Given the description of an element on the screen output the (x, y) to click on. 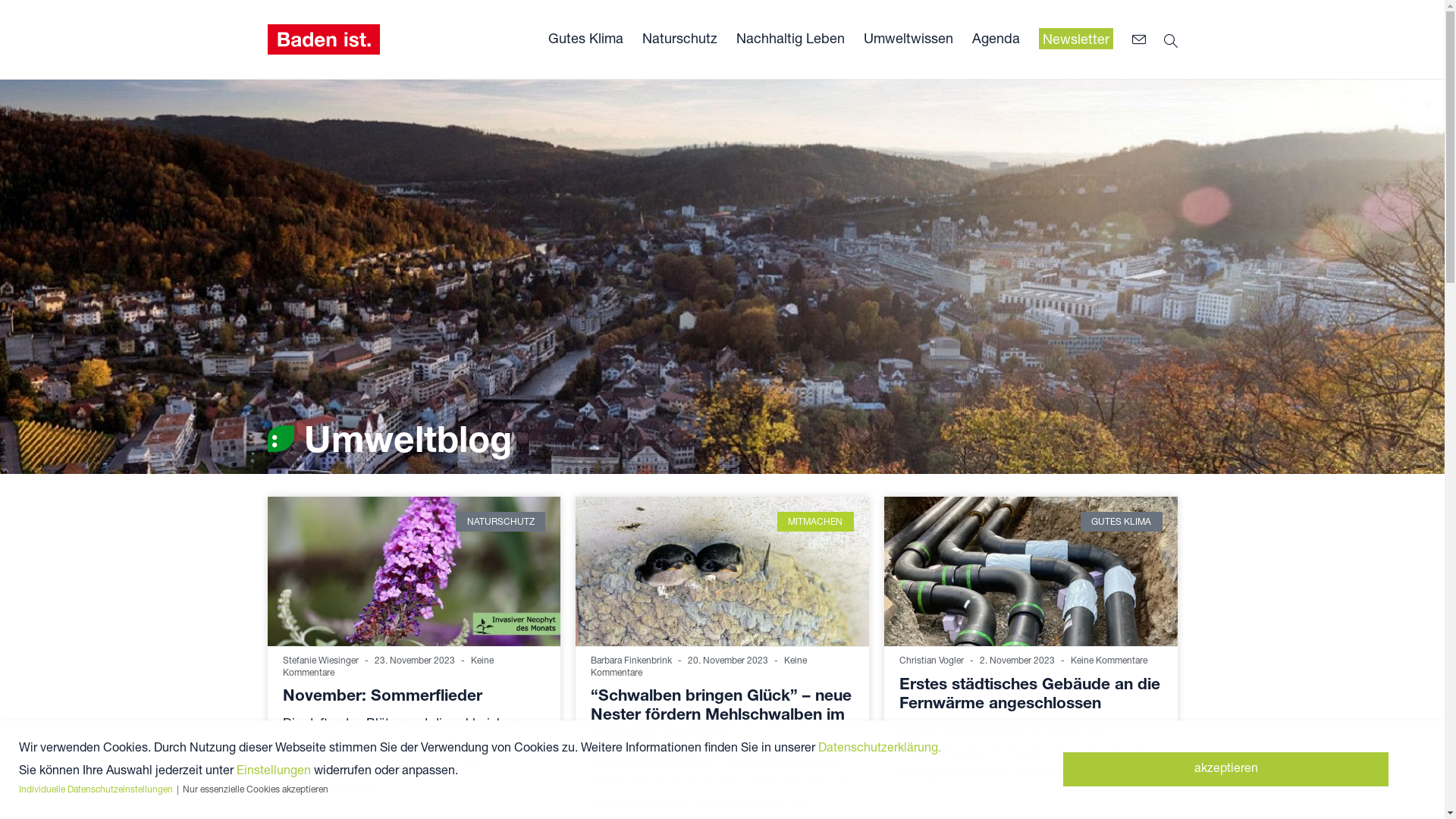
Agenda Element type: text (995, 38)
Naturschutz Element type: text (678, 38)
Umweltwissen Element type: text (907, 38)
Einstellungen Element type: text (273, 769)
Individuelle Datenschutzeinstellungen Element type: text (96, 788)
November: Sommerflieder Element type: text (381, 694)
  Element type: text (1141, 39)
akzeptieren Element type: text (1225, 769)
Gutes Klima Element type: text (584, 38)
Nachhaltig Leben Element type: text (789, 38)
Nur essenzielle Cookies akzeptieren Element type: text (255, 788)
Newsletter Element type: text (1075, 39)
